Given the description of an element on the screen output the (x, y) to click on. 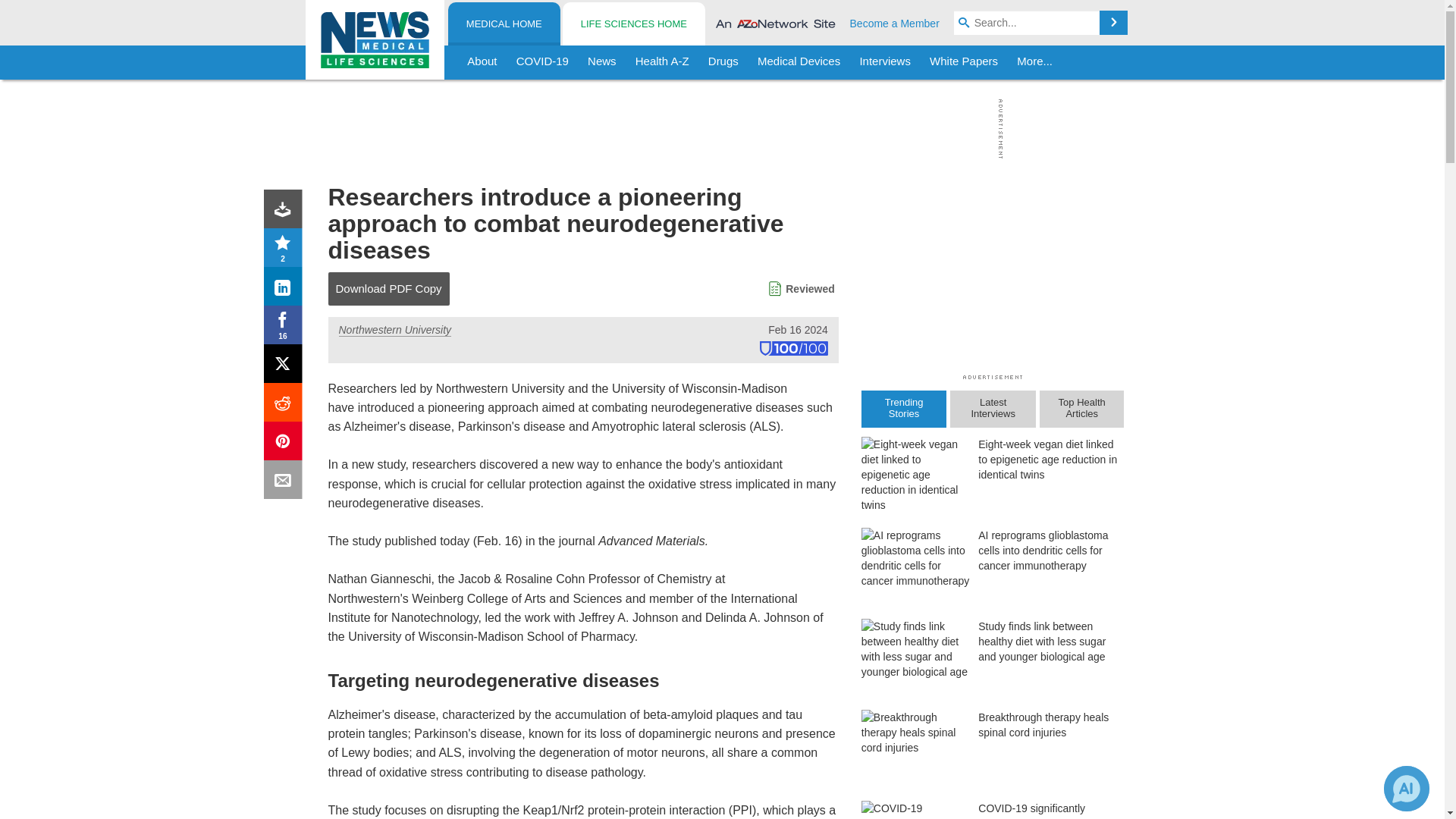
More... (1035, 62)
Download PDF copy (285, 212)
Rating (285, 250)
X (285, 366)
About (482, 62)
Facebook (285, 328)
LinkedIn (285, 289)
Pinterest (285, 443)
MEDICAL HOME (504, 23)
Email (285, 483)
